Given the description of an element on the screen output the (x, y) to click on. 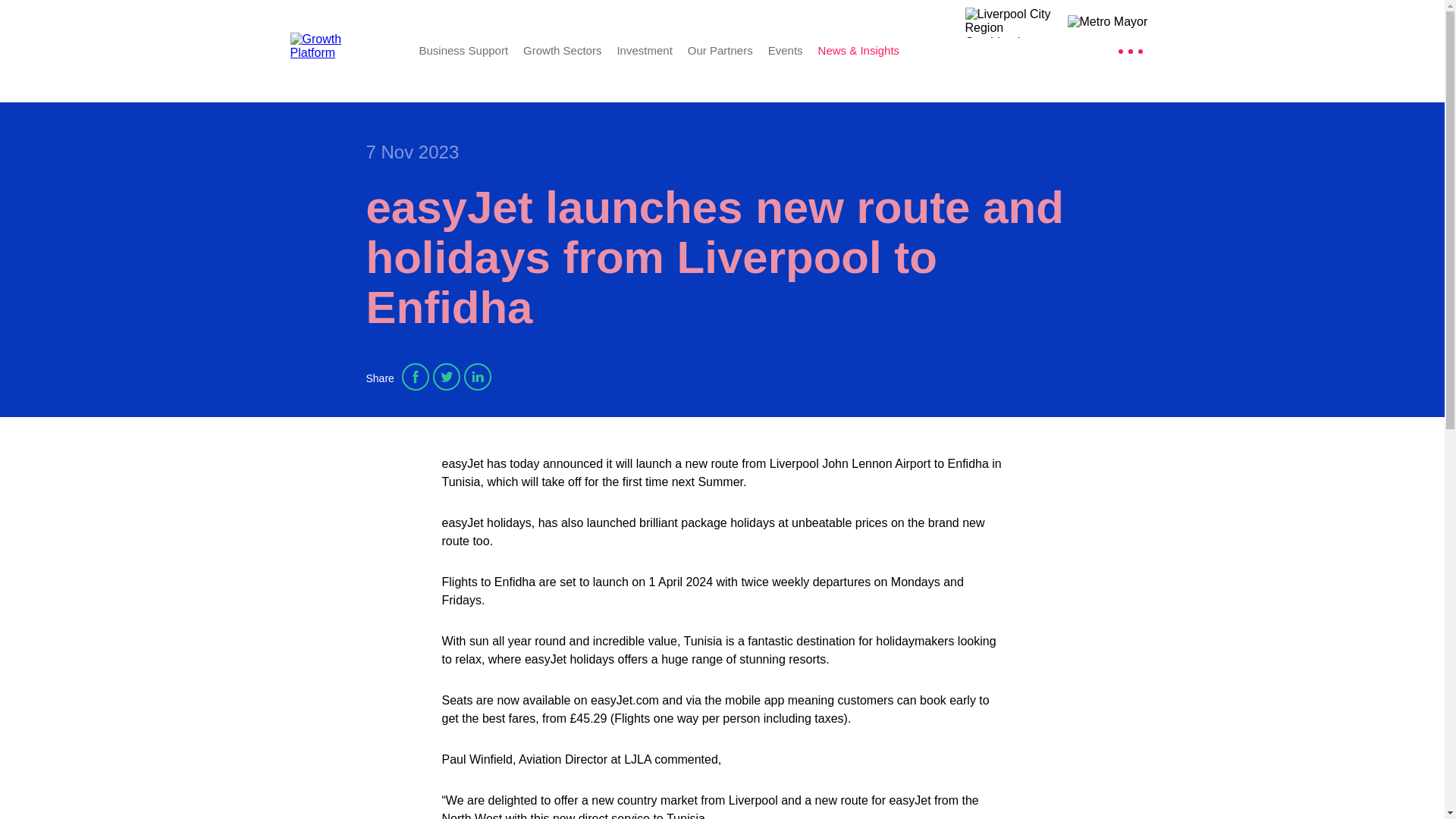
Growth Sectors (561, 50)
Go to Growth Platform homepage (342, 50)
Our Partners (719, 50)
Business Support (463, 50)
Investment (643, 50)
